Given the description of an element on the screen output the (x, y) to click on. 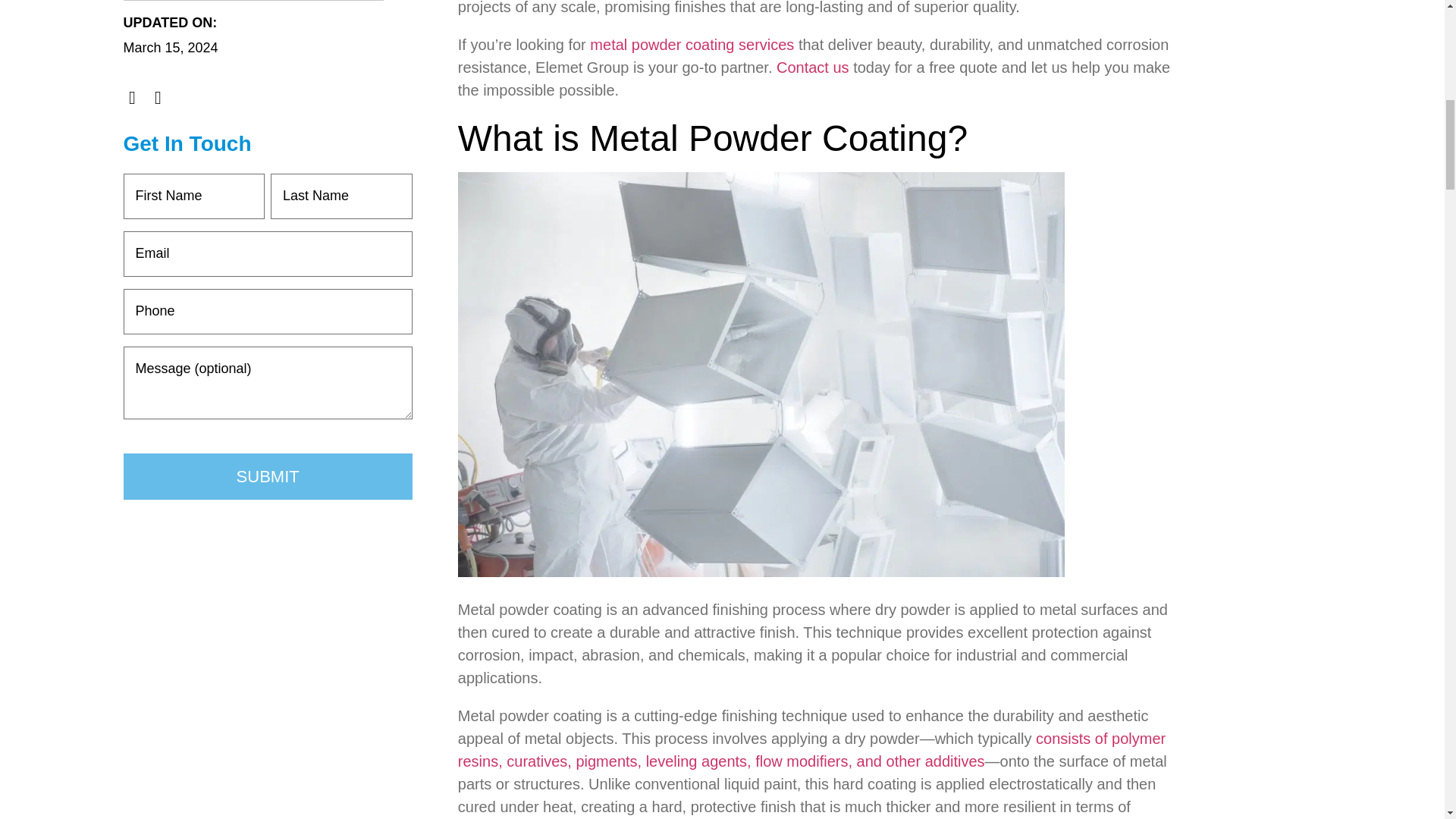
Submit (267, 476)
